Given the description of an element on the screen output the (x, y) to click on. 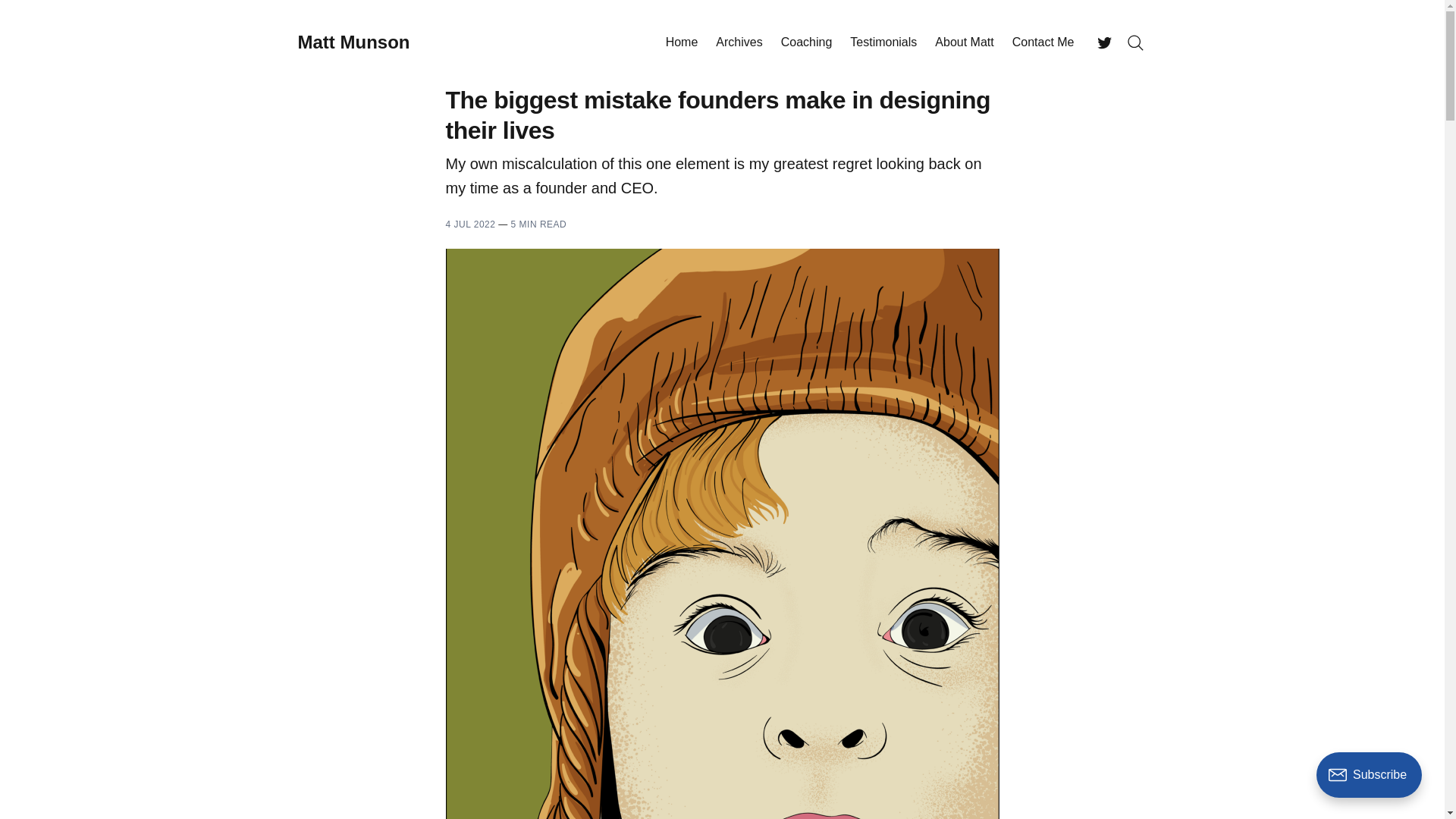
Testimonials (883, 42)
Archives (738, 42)
Matt Munson (353, 42)
About Matt (963, 42)
Home (681, 42)
Search (1134, 42)
Coaching (806, 42)
Twitter (1104, 42)
Contact Me (1042, 42)
portal-trigger (1373, 781)
